Given the description of an element on the screen output the (x, y) to click on. 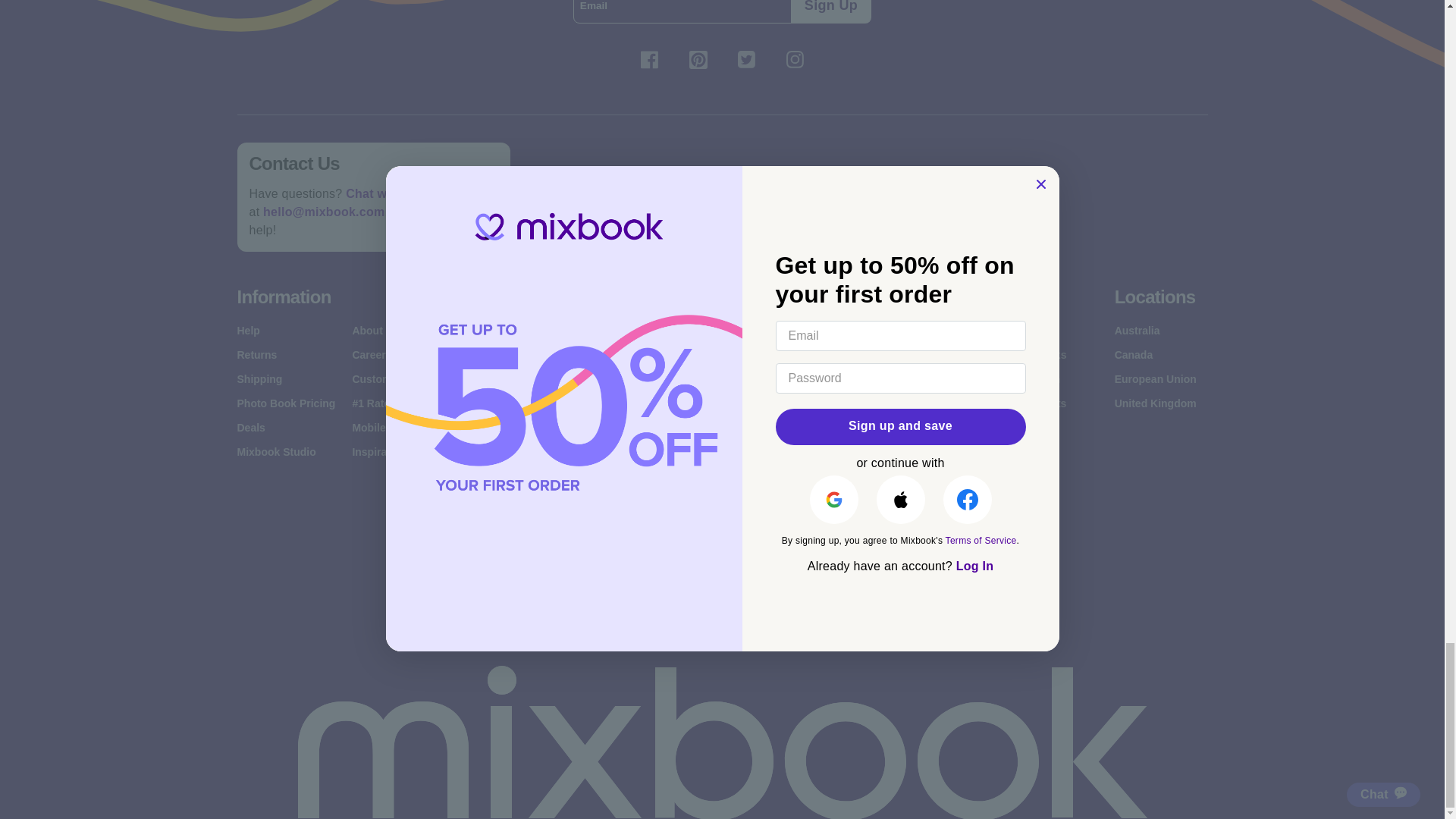
Help (247, 330)
Returns (255, 354)
Follow Mixbook on Pinterest (697, 59)
Follow Mixbook on Twitter (746, 59)
Shipping (258, 378)
Follow Mixbook on Instagram (794, 59)
Follow Mixbook on Facebook (648, 59)
Sign Up (830, 11)
